Given the description of an element on the screen output the (x, y) to click on. 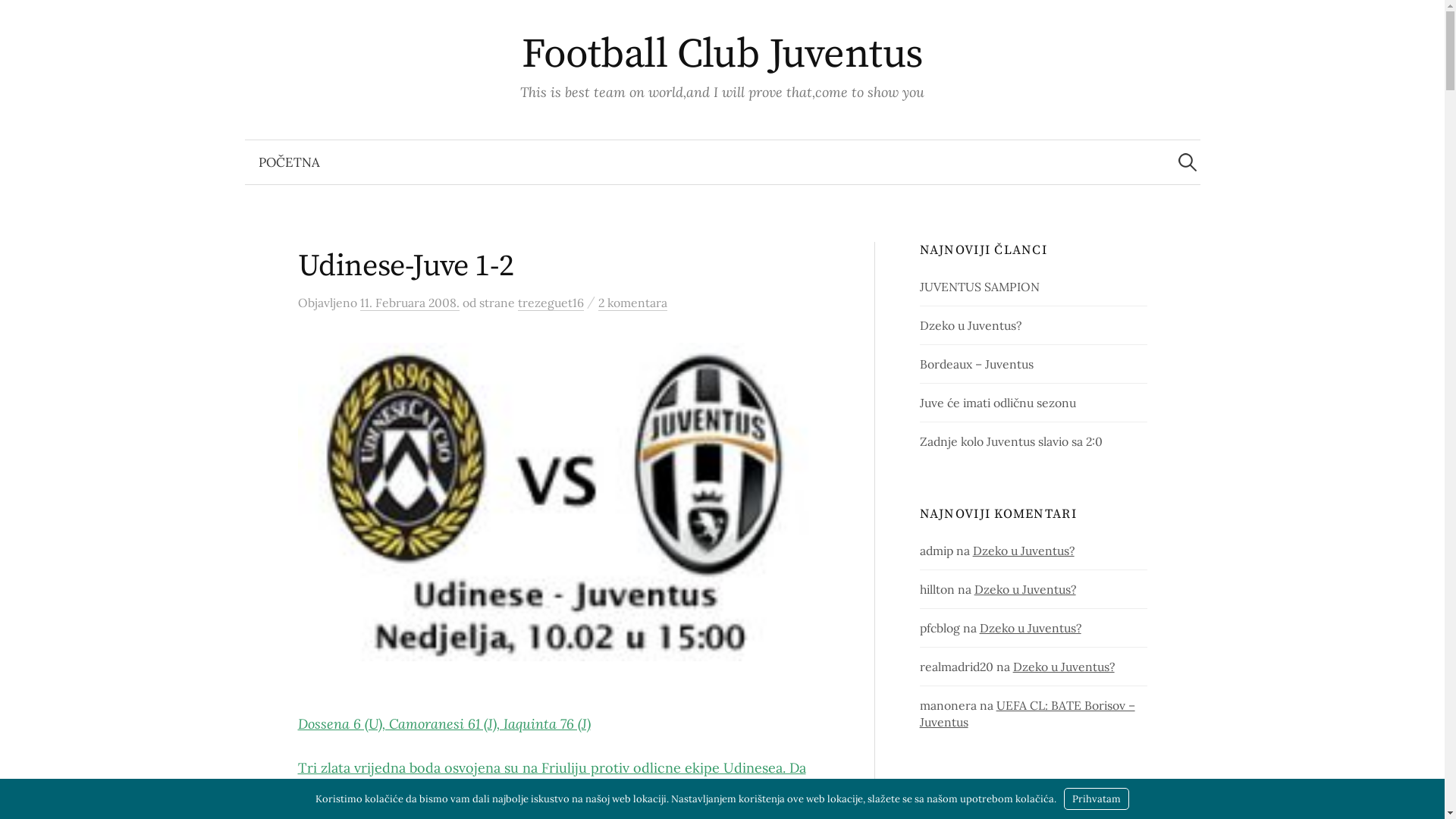
Dzeko u Juventus? Element type: text (970, 324)
Dzeko u Juventus? Element type: text (1023, 550)
11. Februara 2008. Element type: text (408, 302)
Zadnje kolo Juventus slavio sa 2:0 Element type: text (1010, 440)
Prihvatam Element type: text (1096, 798)
JUVENTUS SAMPION Element type: text (979, 286)
Dzeko u Juventus? Element type: text (1030, 627)
Dzeko u Juventus? Element type: text (1063, 666)
Football Club Juventus Element type: text (721, 54)
Dzeko u Juventus? Element type: text (1025, 588)
2 komentara
za Udinese-Juve 1-2 Element type: text (631, 302)
Pretraga Element type: text (18, 18)
trezeguet16 Element type: text (550, 302)
